Given the description of an element on the screen output the (x, y) to click on. 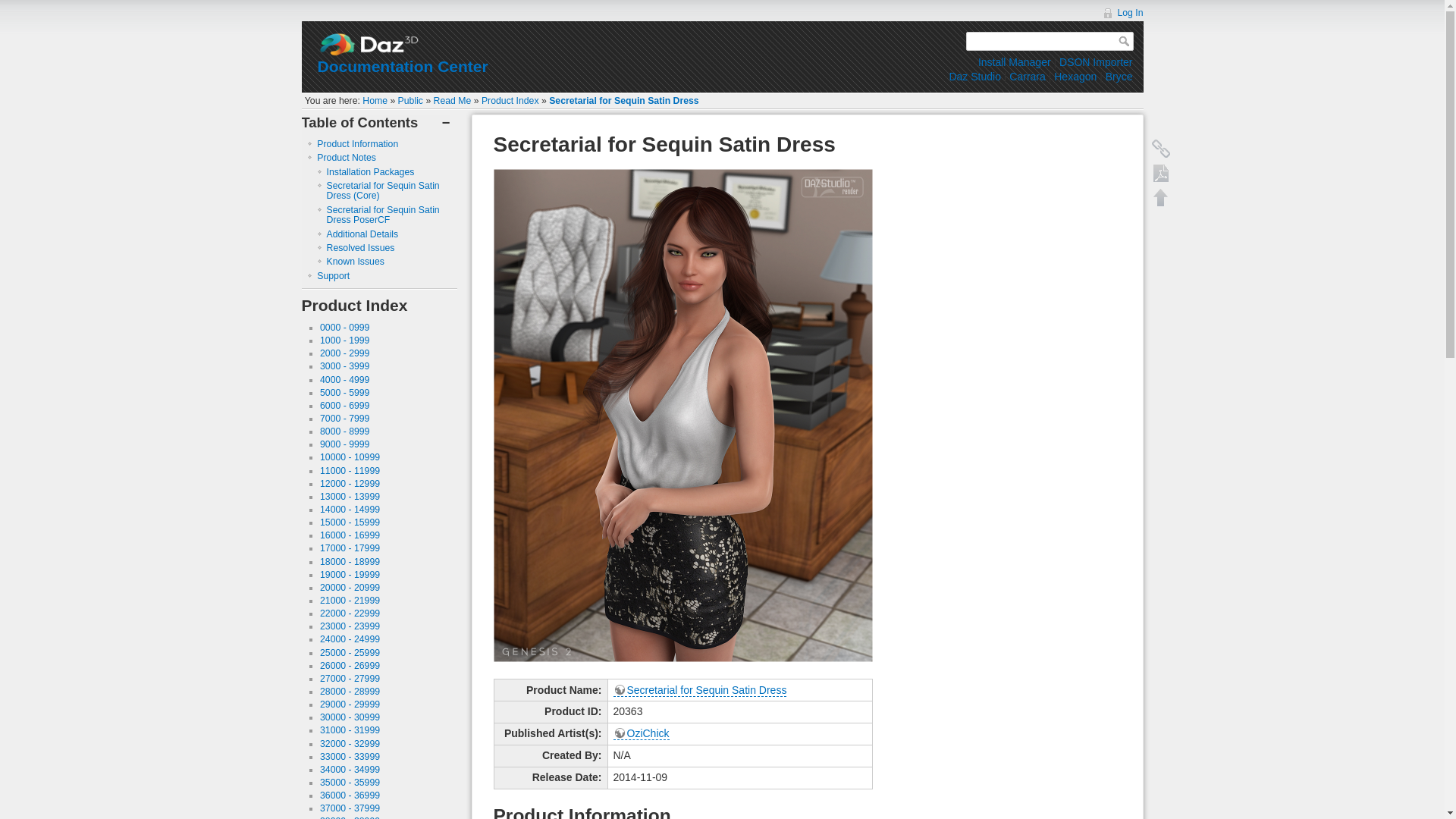
Hexagon (1075, 76)
4000 - 4999 (344, 379)
11000 - 11999 (350, 470)
Resolved Issues (360, 247)
Support (333, 276)
Documentation Center (402, 66)
Additional Details (362, 234)
public:software:dazstudio:start (974, 76)
Known Issues (355, 261)
Installation Packages (370, 172)
0000 - 0999 (344, 327)
7000 - 7999 (344, 418)
Search (1125, 40)
Product Information (357, 143)
Home (374, 100)
